Given the description of an element on the screen output the (x, y) to click on. 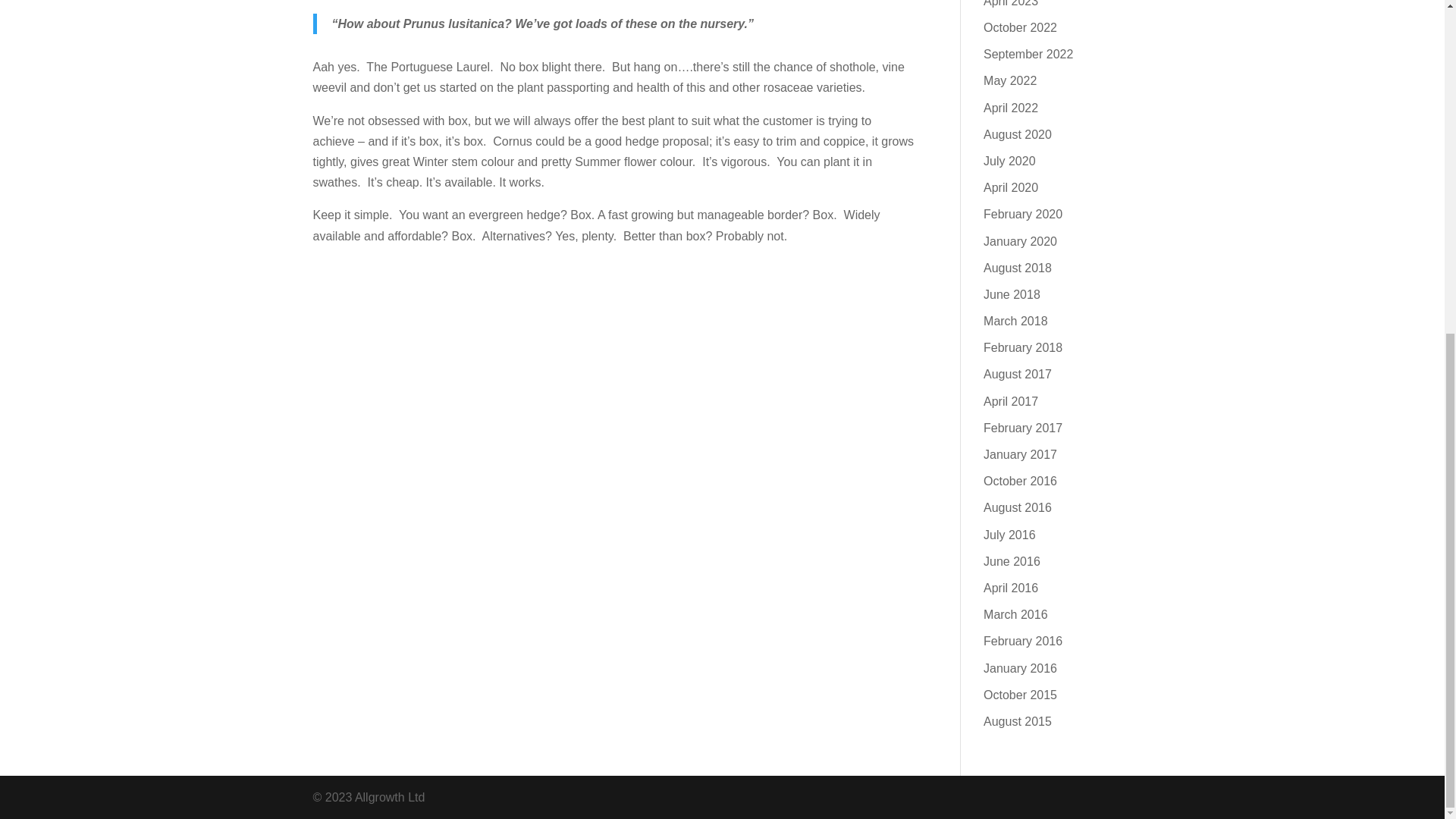
August 2018 (1017, 267)
April 2022 (1011, 107)
April 2017 (1011, 400)
February 2020 (1023, 214)
August 2020 (1017, 133)
April 2020 (1011, 187)
June 2018 (1012, 294)
March 2018 (1016, 320)
January 2020 (1020, 241)
April 2023 (1011, 3)
October 2022 (1020, 27)
August 2017 (1017, 373)
February 2018 (1023, 347)
May 2022 (1010, 80)
September 2022 (1028, 53)
